Given the description of an element on the screen output the (x, y) to click on. 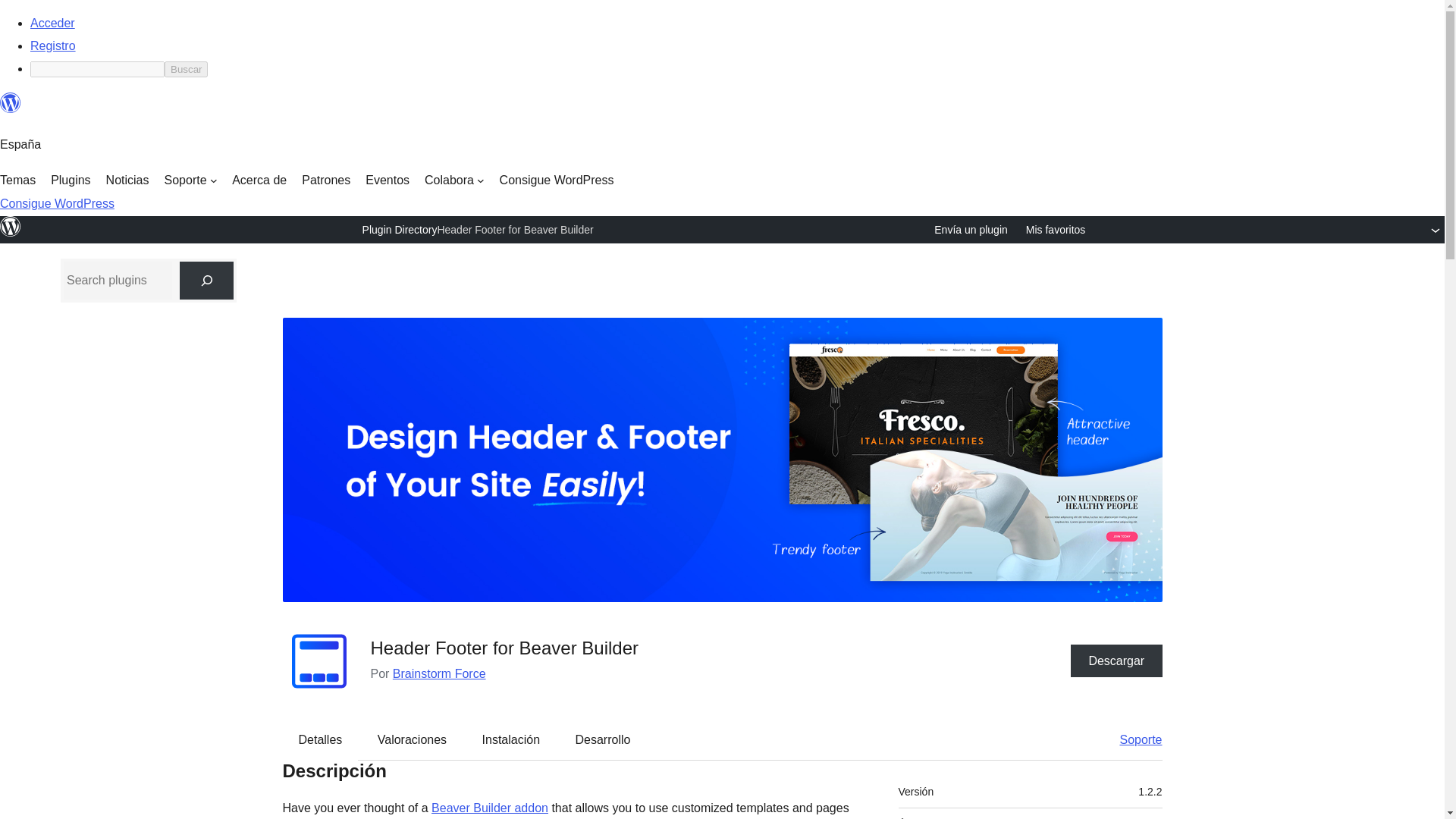
Header Footer for Beaver Builder (514, 229)
Noticias (127, 179)
Eventos (387, 179)
Brainstorm Force (439, 673)
Consigue WordPress (57, 203)
Mis favoritos (1056, 229)
Consigue WordPress (556, 179)
Buscar (186, 68)
Registro (52, 45)
WordPress.org (10, 233)
Patrones (325, 179)
WordPress.org (10, 102)
WordPress.org (10, 226)
Plugin Directory (400, 229)
